Given the description of an element on the screen output the (x, y) to click on. 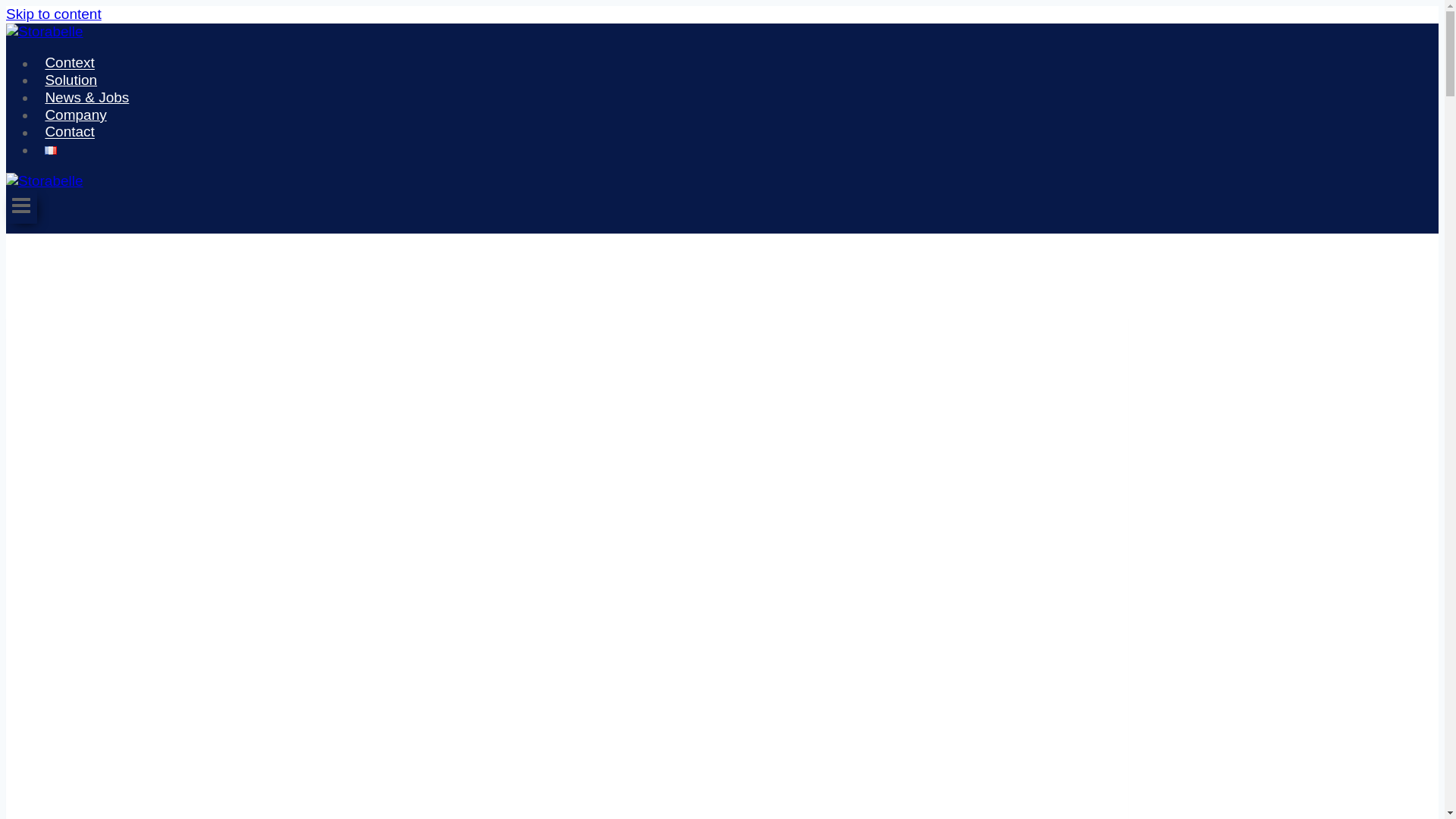
Toggle Menu (21, 206)
Skip to content (53, 13)
Company (75, 114)
Skip to content (53, 13)
Context (69, 62)
Solution (70, 80)
Contact (69, 131)
